Given the description of an element on the screen output the (x, y) to click on. 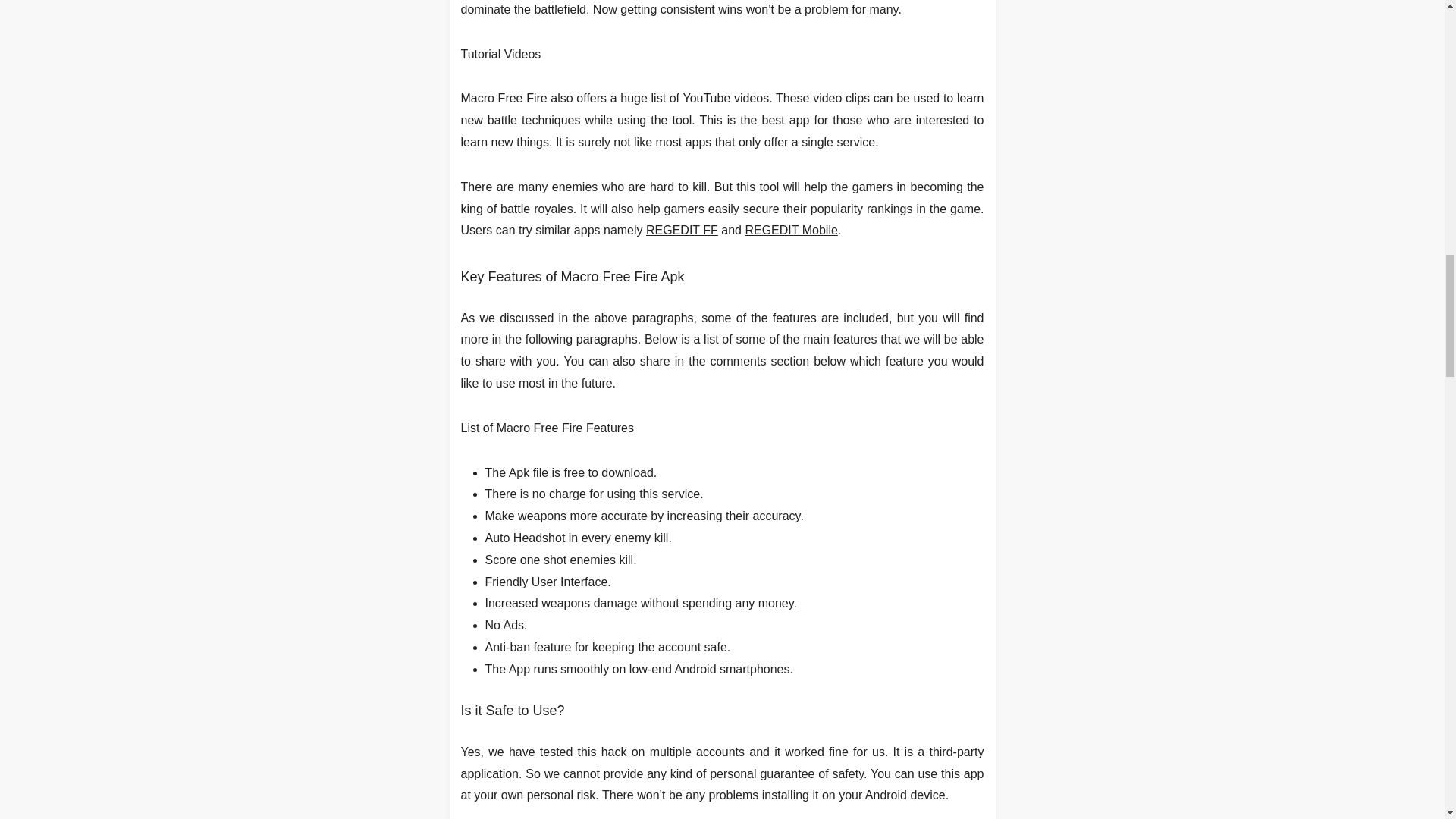
REGEDIT Mobile (790, 229)
REGEDIT FF (681, 229)
